Given the description of an element on the screen output the (x, y) to click on. 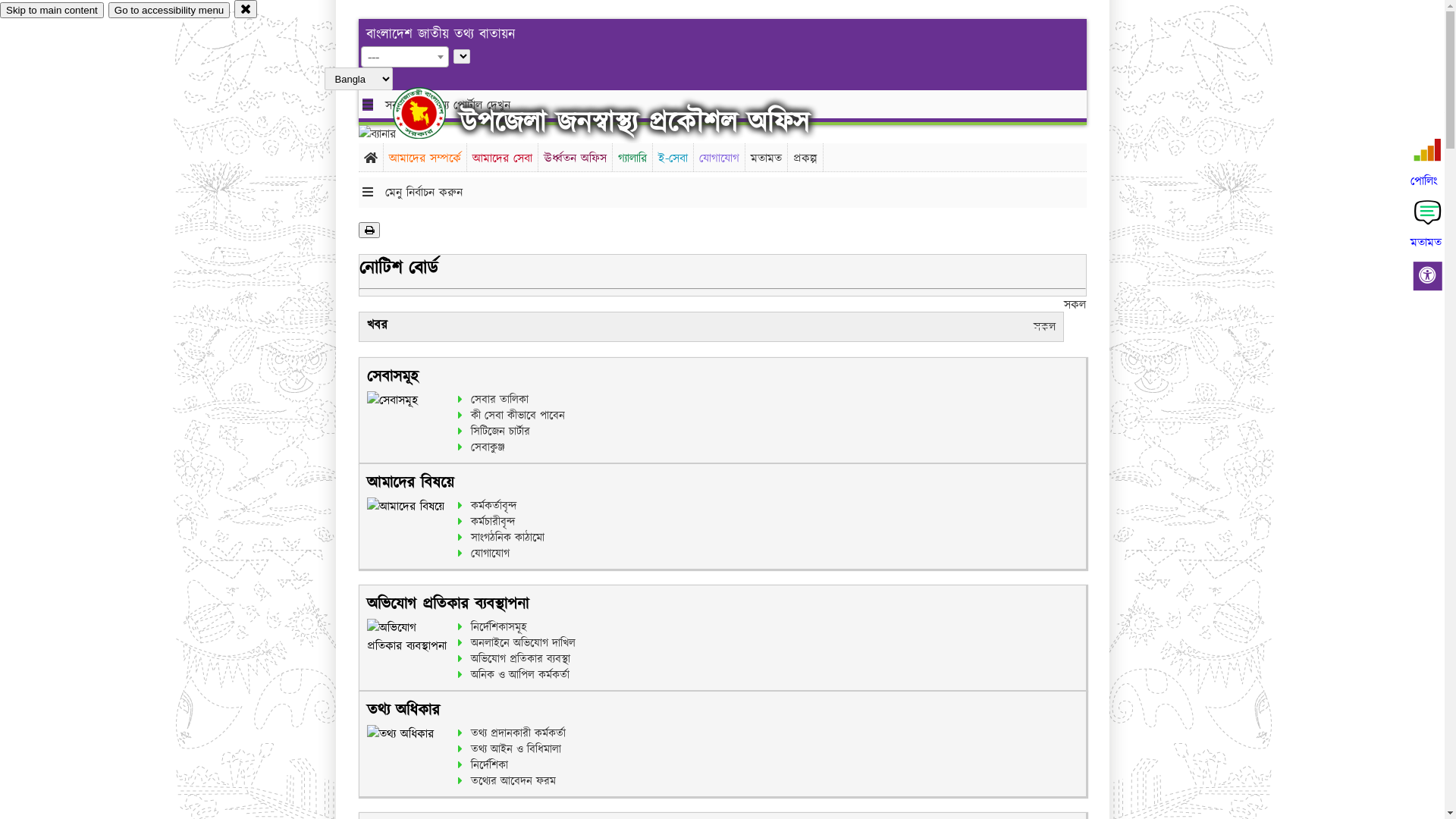
close Element type: hover (245, 9)
Skip to main content Element type: text (51, 10)

                
             Element type: hover (431, 112)
Go to accessibility menu Element type: text (168, 10)
